Given the description of an element on the screen output the (x, y) to click on. 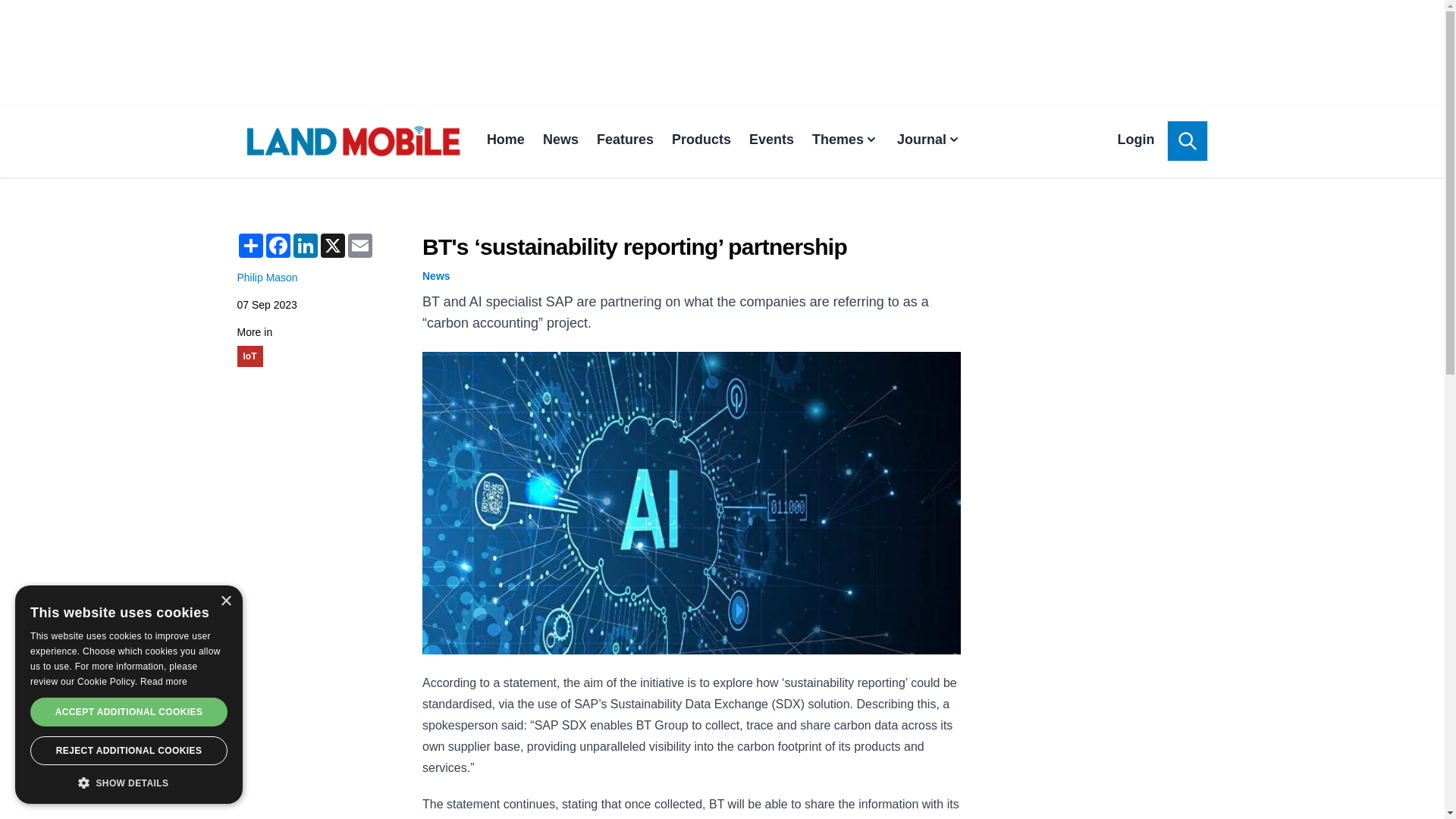
News (560, 140)
3rd party ad content (721, 52)
Home (505, 140)
Features (624, 140)
Products (700, 140)
Events (771, 140)
Themes (845, 140)
Journal (928, 140)
3rd party ad content (1093, 289)
